Given the description of an element on the screen output the (x, y) to click on. 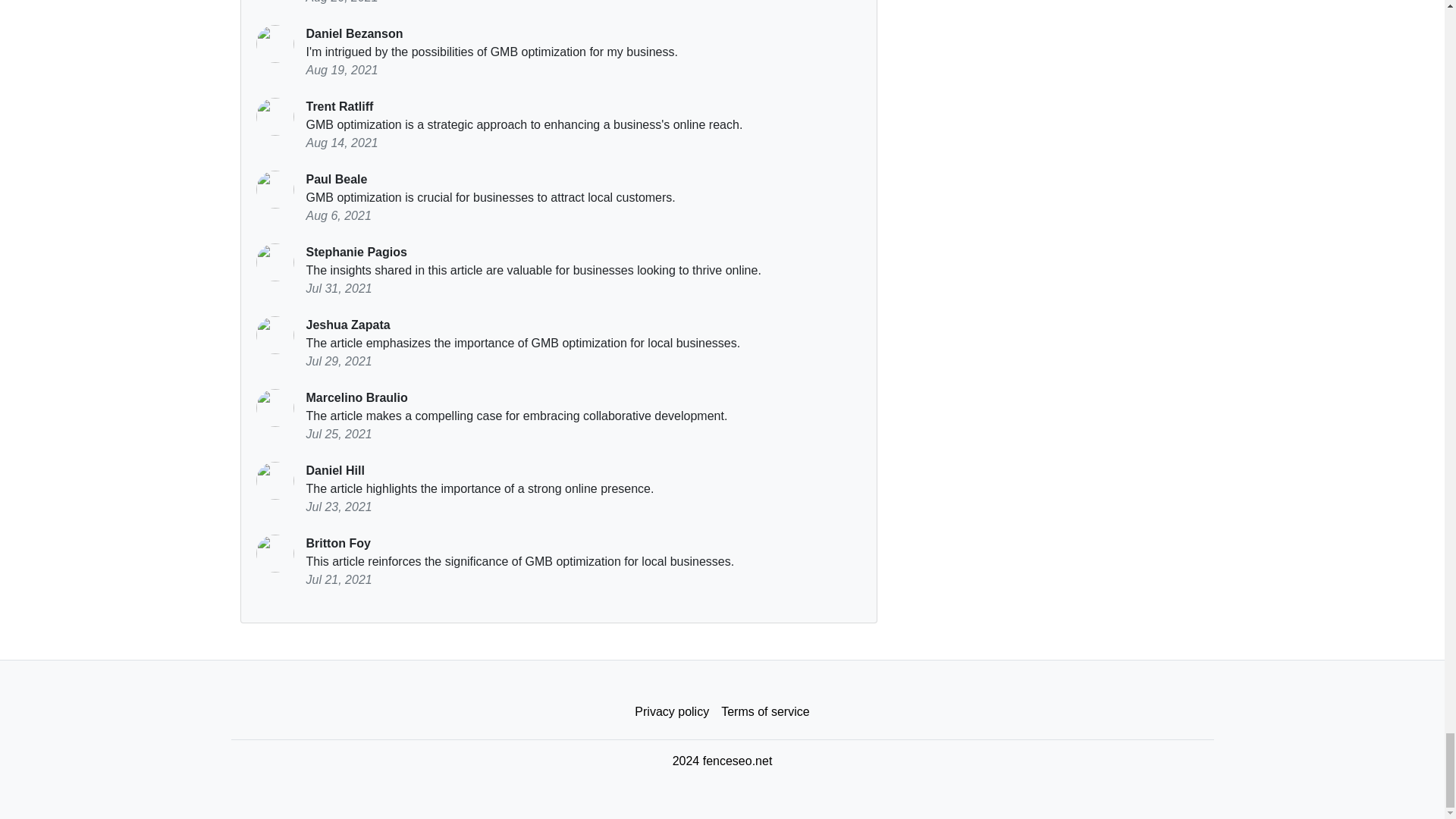
Terms of service (764, 711)
Privacy policy (671, 711)
